Given the description of an element on the screen output the (x, y) to click on. 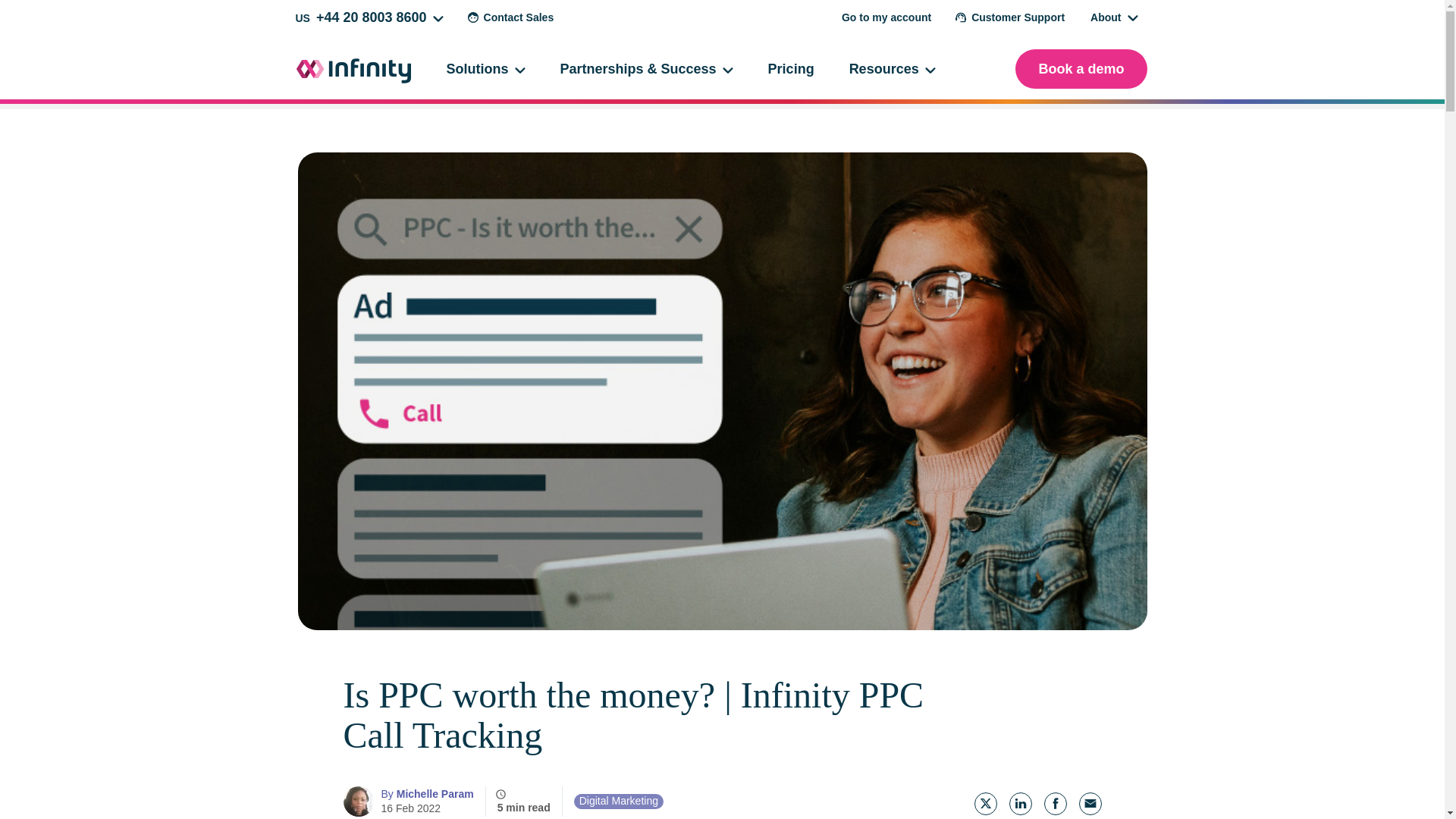
Contact Sales (511, 17)
Solutions (485, 68)
About (1114, 17)
Michelle Param (426, 793)
Go to my account (886, 17)
Customer Support (1010, 17)
